Given the description of an element on the screen output the (x, y) to click on. 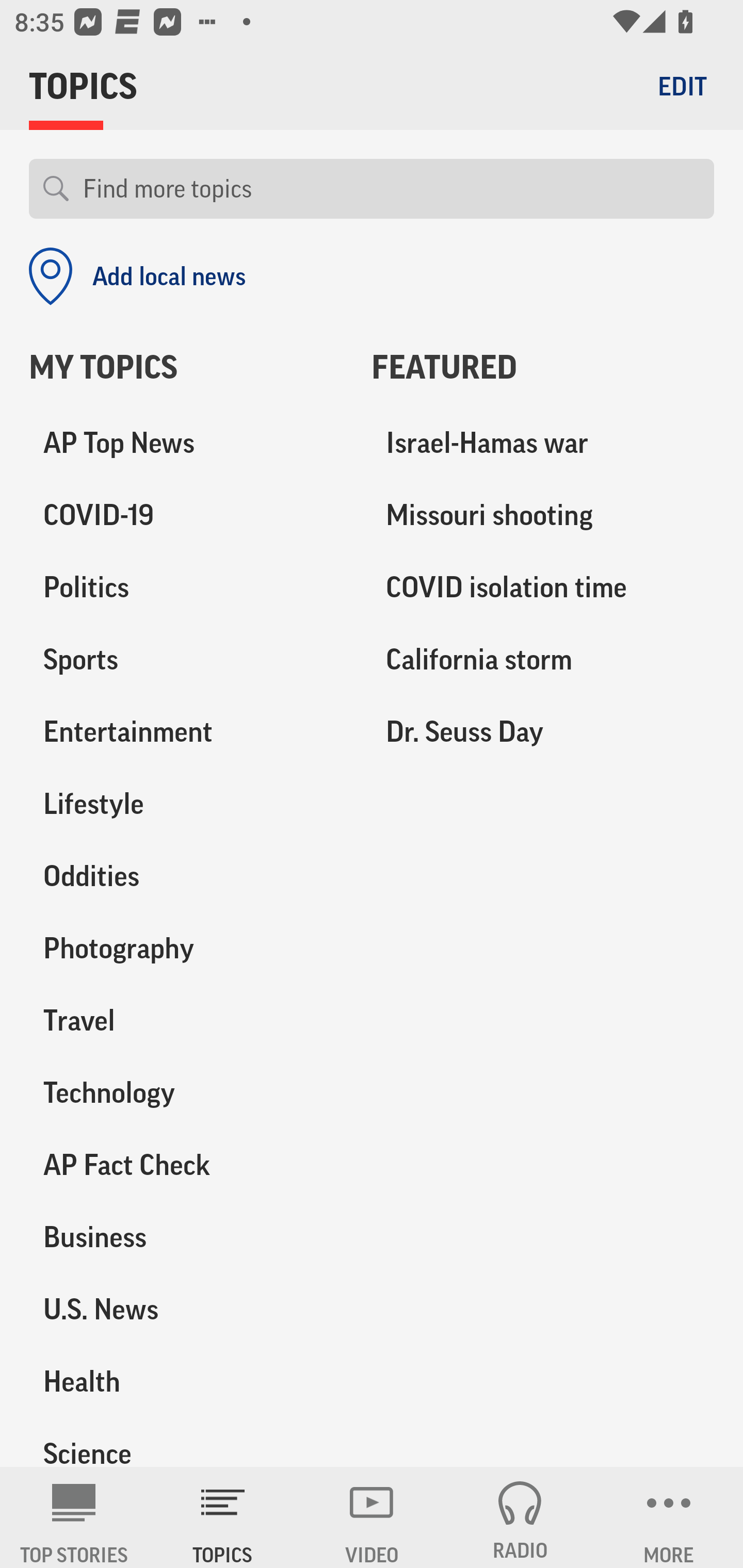
EDIT (682, 86)
Find more topics (391, 188)
Add local news (137, 276)
AP Top News (185, 443)
Israel-Hamas war (542, 443)
COVID-19 (185, 515)
Missouri shooting (542, 515)
Politics (185, 587)
COVID isolation time (542, 587)
Sports (185, 660)
California storm (542, 660)
Entertainment (185, 732)
Dr. Seuss Day (542, 732)
Lifestyle (185, 804)
Oddities (185, 876)
Photography (185, 948)
Travel (185, 1020)
Technology (185, 1092)
AP Fact Check (185, 1164)
Business (185, 1237)
U.S. News (185, 1309)
Health (185, 1381)
Science (185, 1442)
AP News TOP STORIES (74, 1517)
TOPICS (222, 1517)
VIDEO (371, 1517)
RADIO (519, 1517)
MORE (668, 1517)
